Given the description of an element on the screen output the (x, y) to click on. 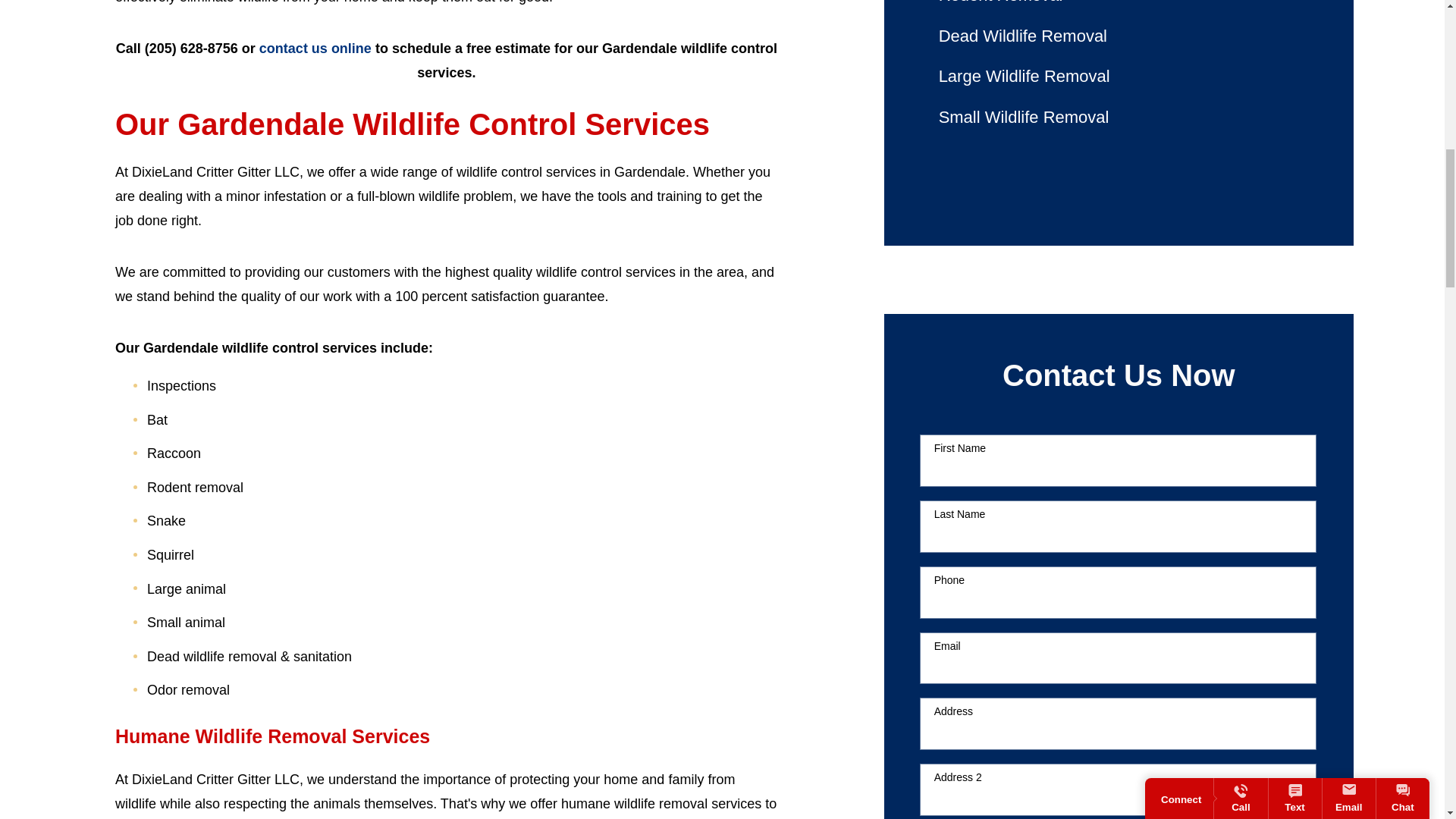
Dead Wildlife Removal (1118, 35)
contact us online (315, 48)
Rodent Removal (1118, 7)
